Given the description of an element on the screen output the (x, y) to click on. 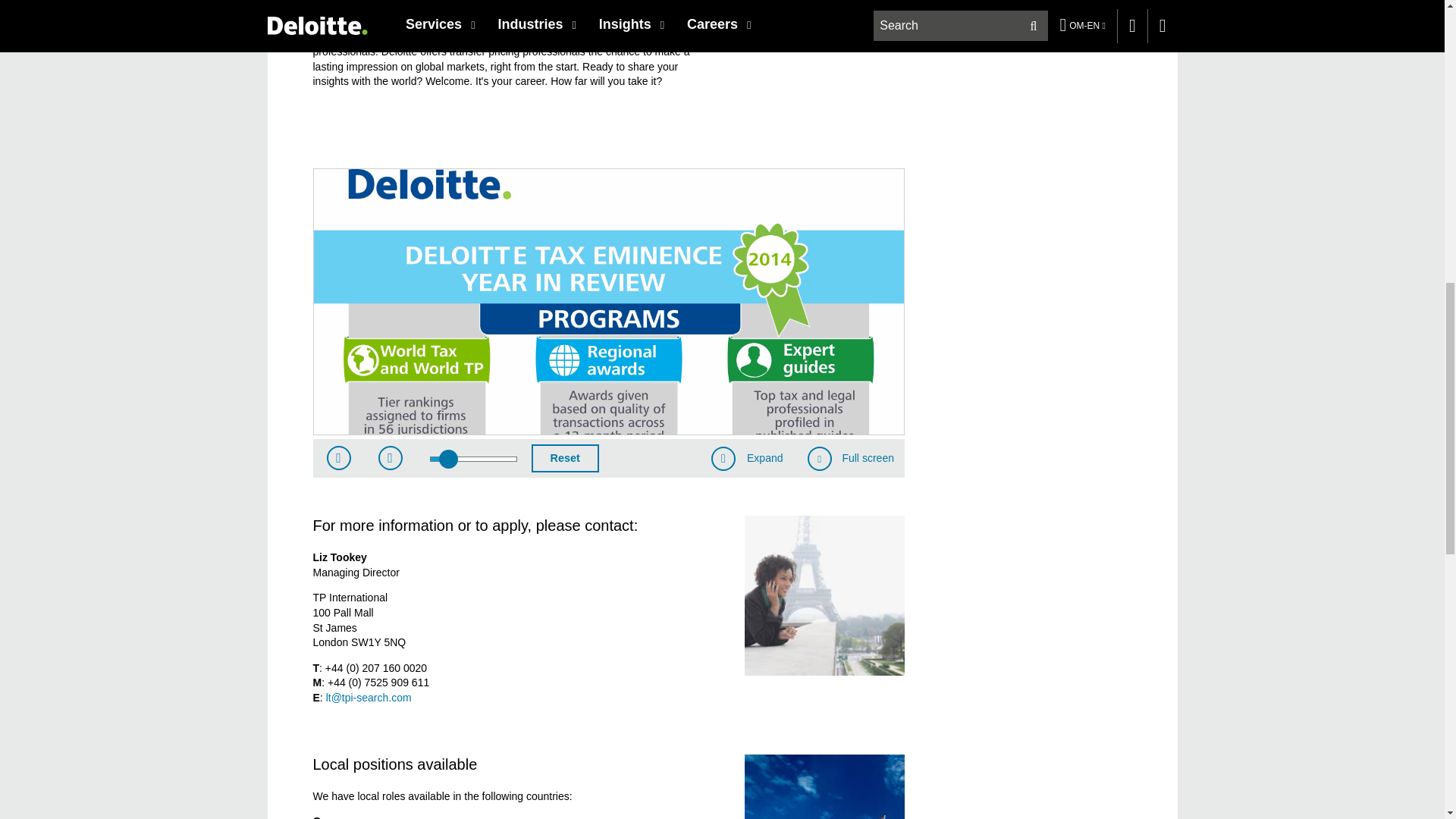
Full screen (850, 458)
Zoom out (390, 457)
Zoom in (339, 457)
Expand (746, 458)
